Given the description of an element on the screen output the (x, y) to click on. 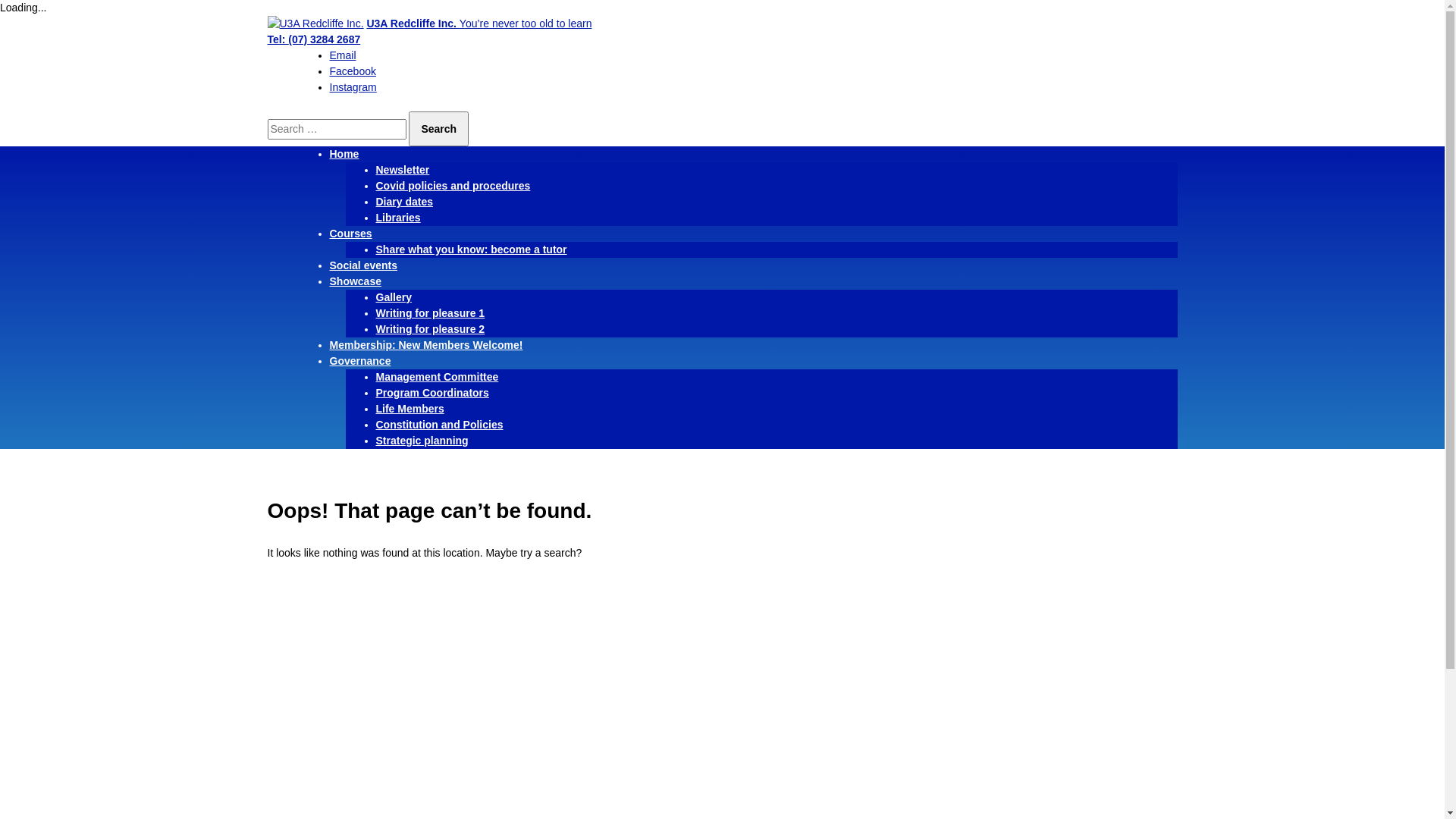
Newsletter Element type: text (402, 169)
Life Members Element type: text (410, 408)
Courses Element type: text (350, 233)
Governance Element type: text (359, 360)
Writing for pleasure 2 Element type: text (430, 329)
Gallery Element type: text (393, 297)
Program Coordinators Element type: text (432, 392)
Search Element type: text (438, 128)
Home Element type: text (343, 153)
Instagram Element type: text (352, 87)
Writing for pleasure 1 Element type: text (430, 313)
Covid policies and procedures Element type: text (453, 185)
Showcase Element type: text (354, 281)
Email Element type: text (342, 55)
Social events Element type: text (363, 265)
Libraries Element type: text (398, 217)
Share what you know: become a tutor Element type: text (471, 249)
Membership: New Members Welcome! Element type: text (425, 344)
Management Committee Element type: text (437, 376)
Skip to content Element type: text (0, 15)
Tel: (07) 3284 2687 Element type: text (313, 39)
Constitution and Policies Element type: text (439, 424)
Facebook Element type: text (352, 71)
Diary dates Element type: text (404, 201)
Strategic planning Element type: text (422, 440)
